Given the description of an element on the screen output the (x, y) to click on. 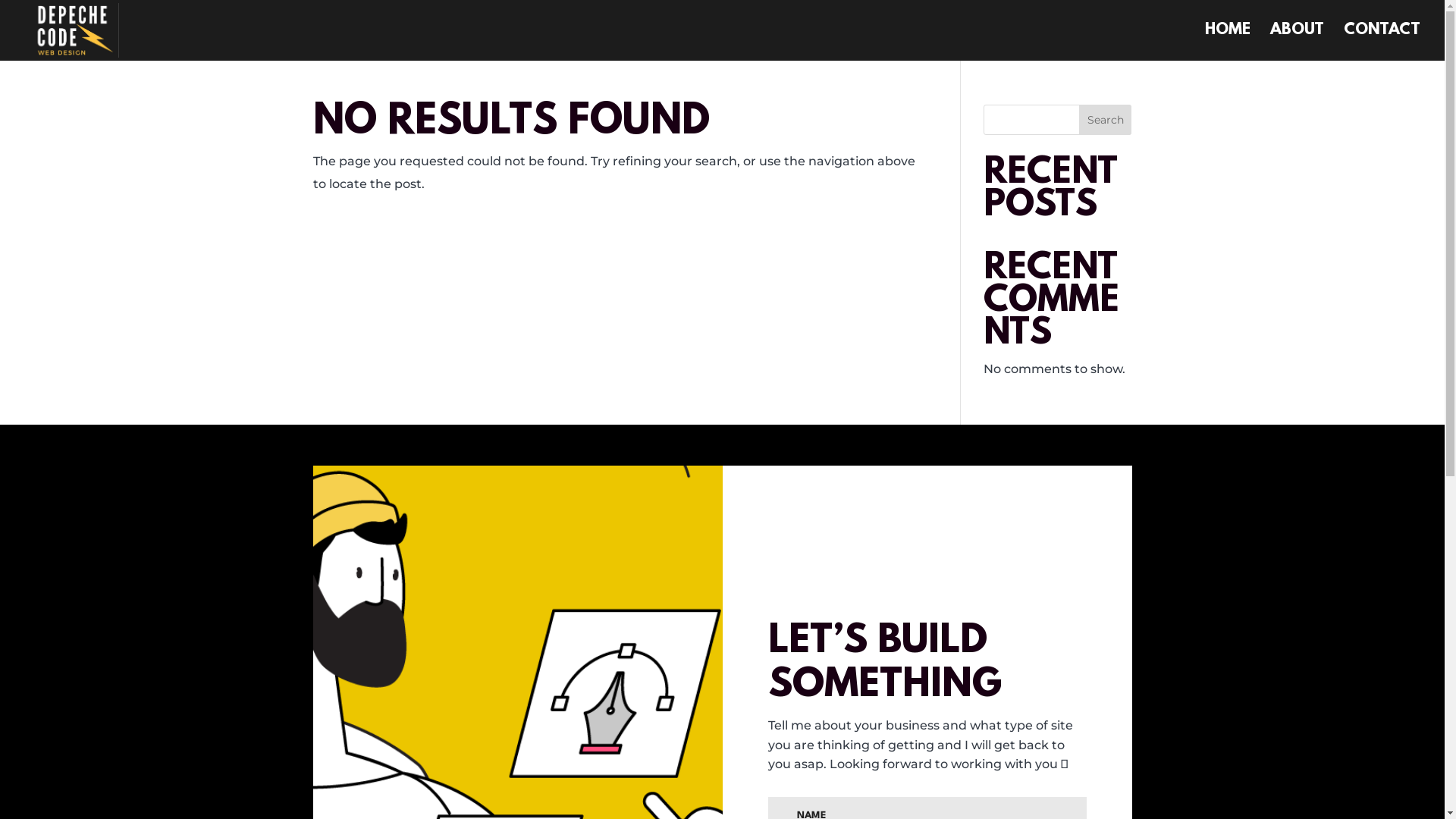
Search Element type: text (1105, 119)
CONTACT Element type: text (1381, 42)
HOME Element type: text (1227, 42)
ABOUT Element type: text (1297, 42)
